Given the description of an element on the screen output the (x, y) to click on. 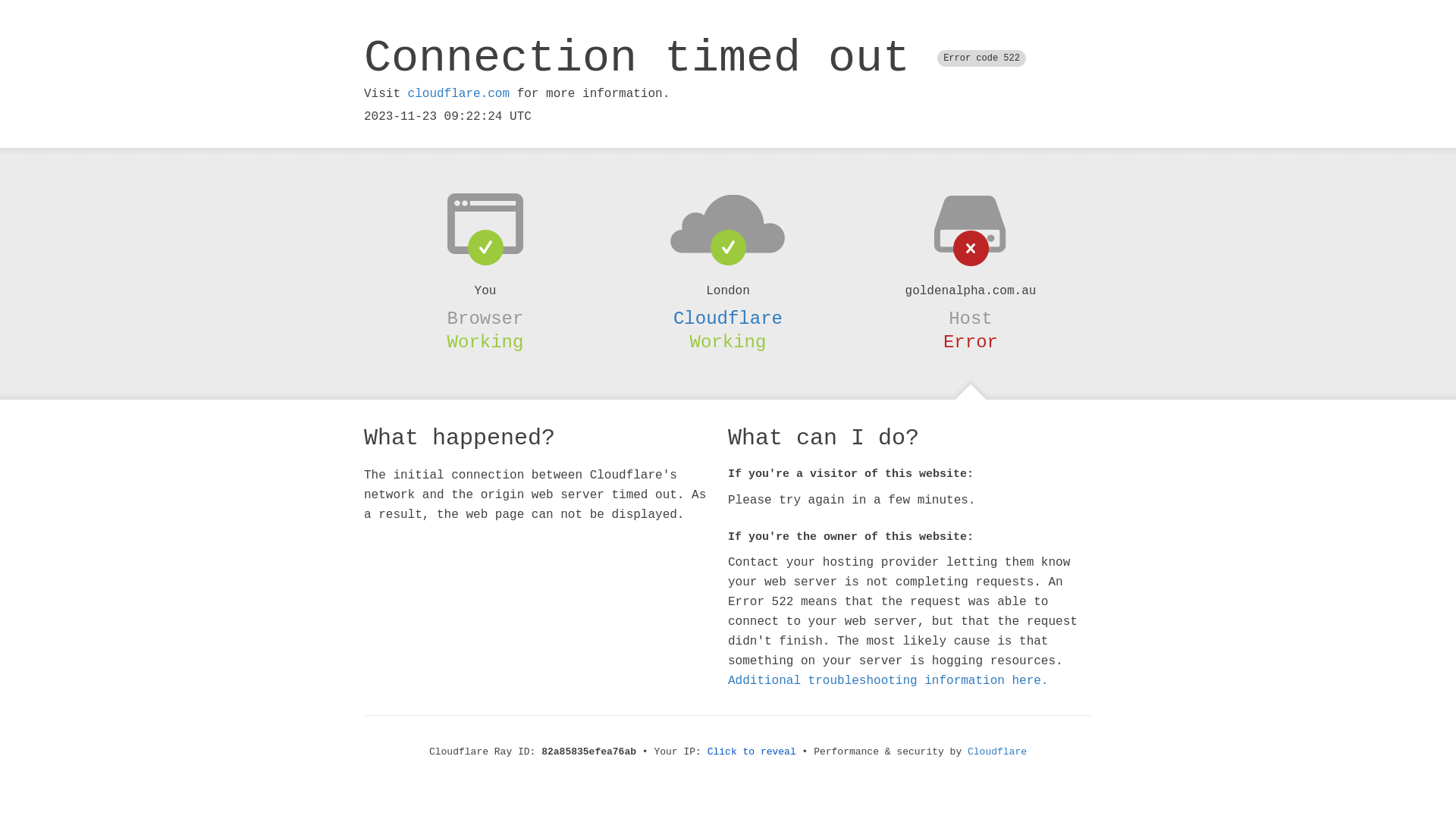
Cloudflare Element type: text (727, 318)
Cloudflare Element type: text (996, 751)
Click to reveal Element type: text (751, 751)
Additional troubleshooting information here. Element type: text (888, 680)
cloudflare.com Element type: text (458, 93)
